Given the description of an element on the screen output the (x, y) to click on. 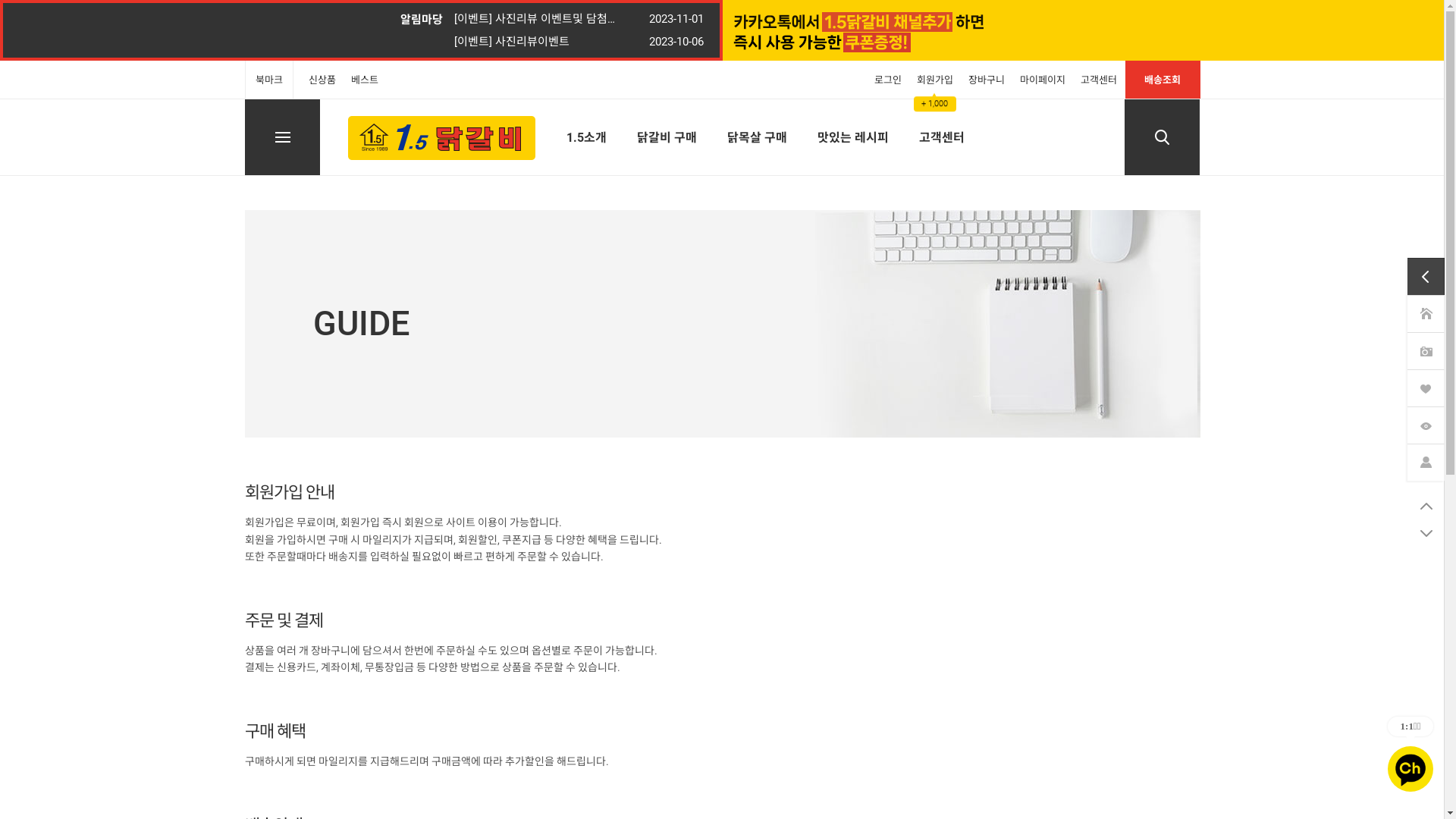
to Top Element type: hover (1425, 505)
to Bottom Element type: hover (1425, 532)
HOME Element type: hover (1425, 313)
